Given the description of an element on the screen output the (x, y) to click on. 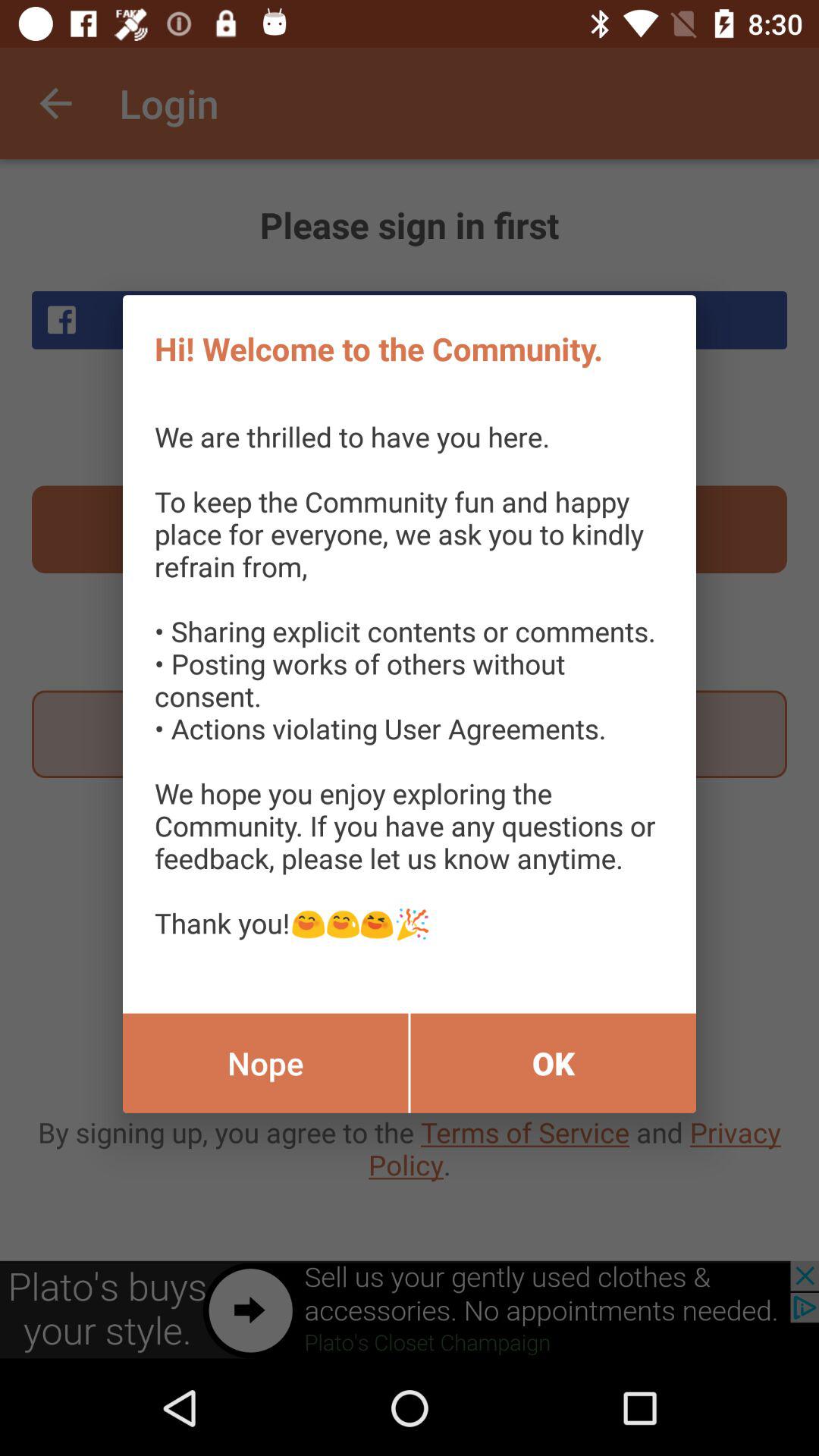
turn on ok item (553, 1063)
